Given the description of an element on the screen output the (x, y) to click on. 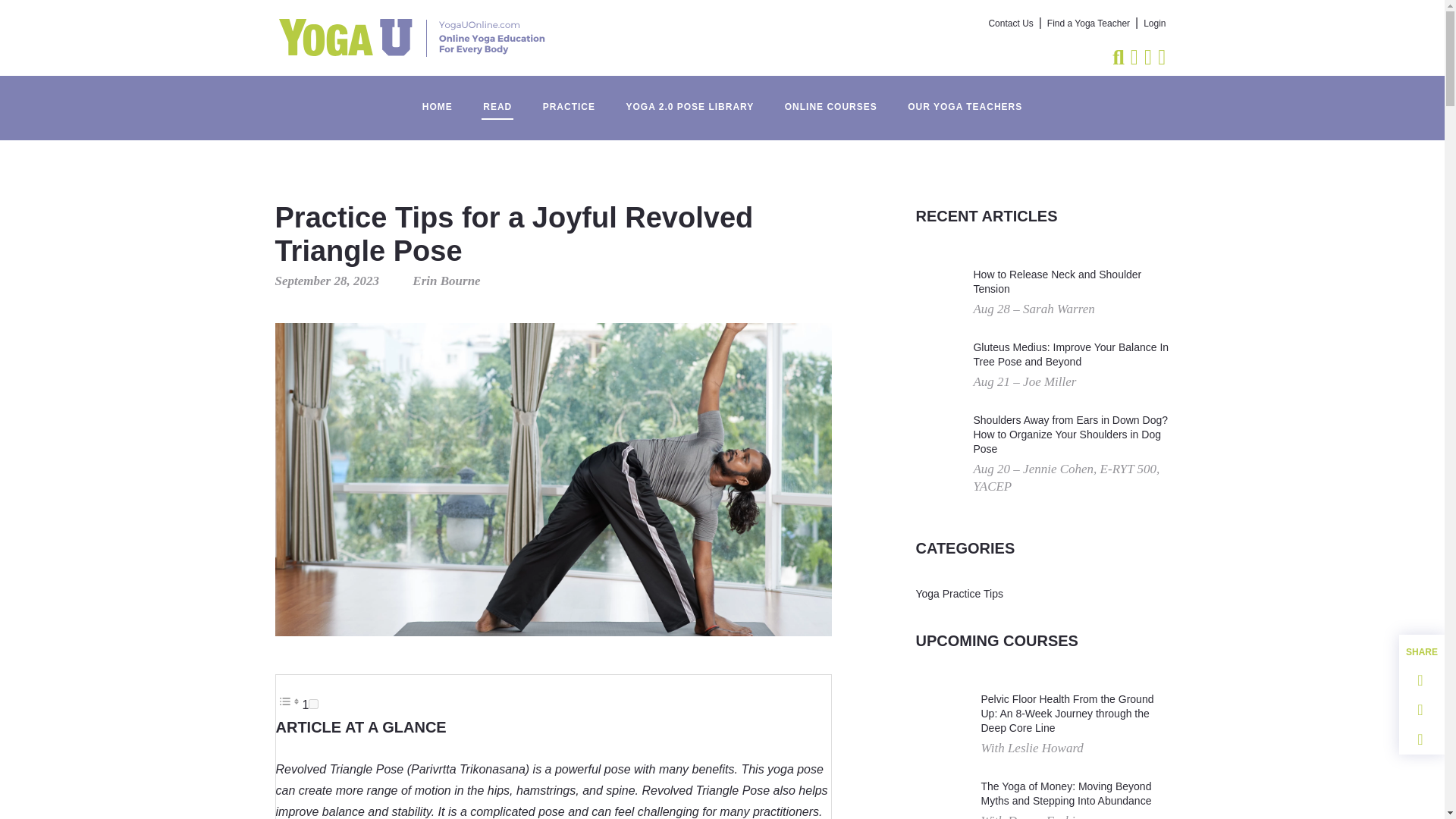
READ (496, 99)
OUR YOGA TEACHERS (964, 99)
on (313, 704)
PRACTICE (568, 99)
Find a Yoga Teacher (1088, 23)
ONLINE COURSES (831, 99)
HOME (437, 99)
YOGA 2.0 POSE LIBRARY (689, 99)
Contact Us (1011, 23)
